Given the description of an element on the screen output the (x, y) to click on. 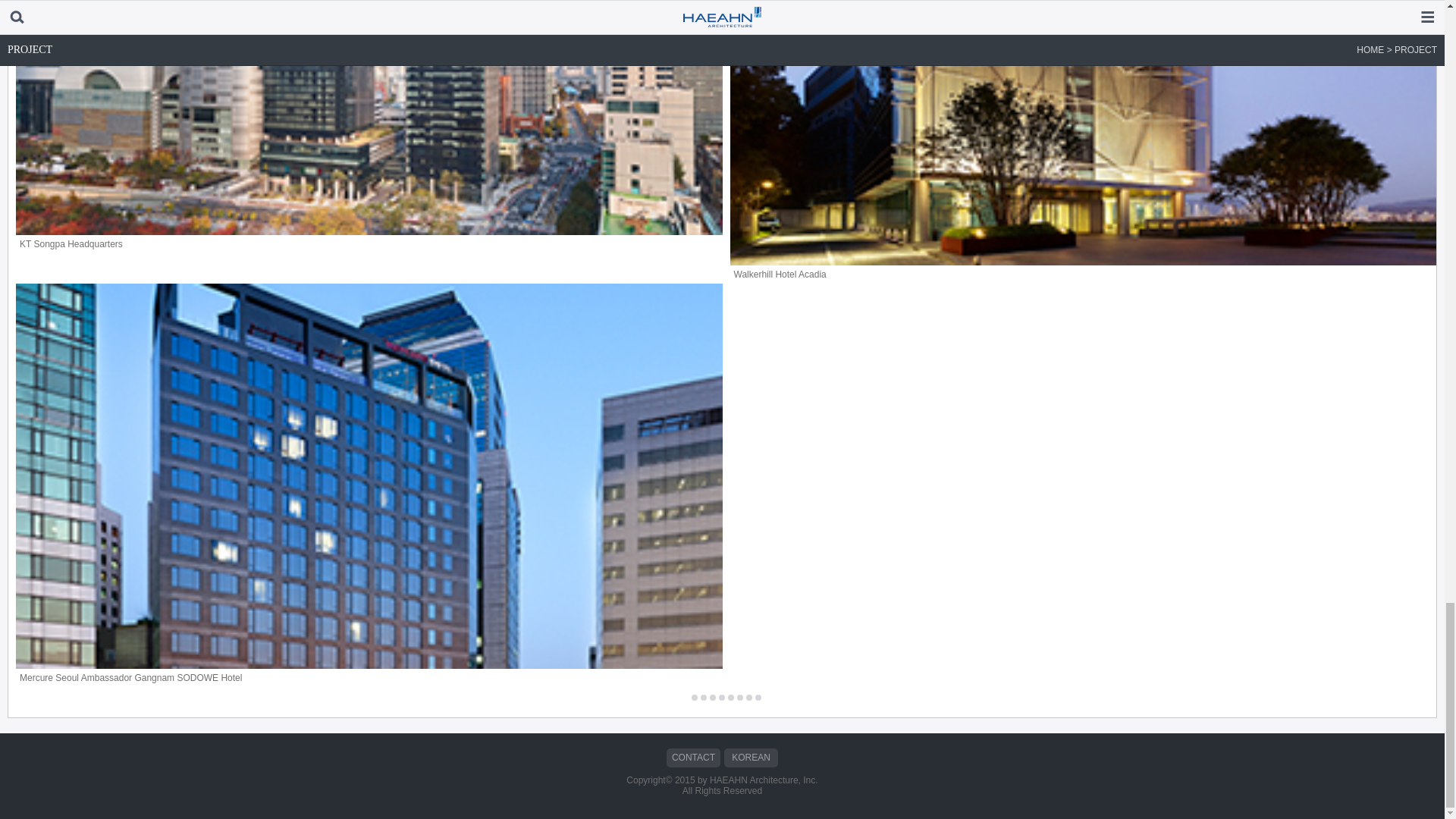
2 (703, 697)
1 (694, 697)
5 (730, 697)
CONTACT (693, 757)
4 (722, 697)
7 (748, 697)
3 (713, 697)
